Given the description of an element on the screen output the (x, y) to click on. 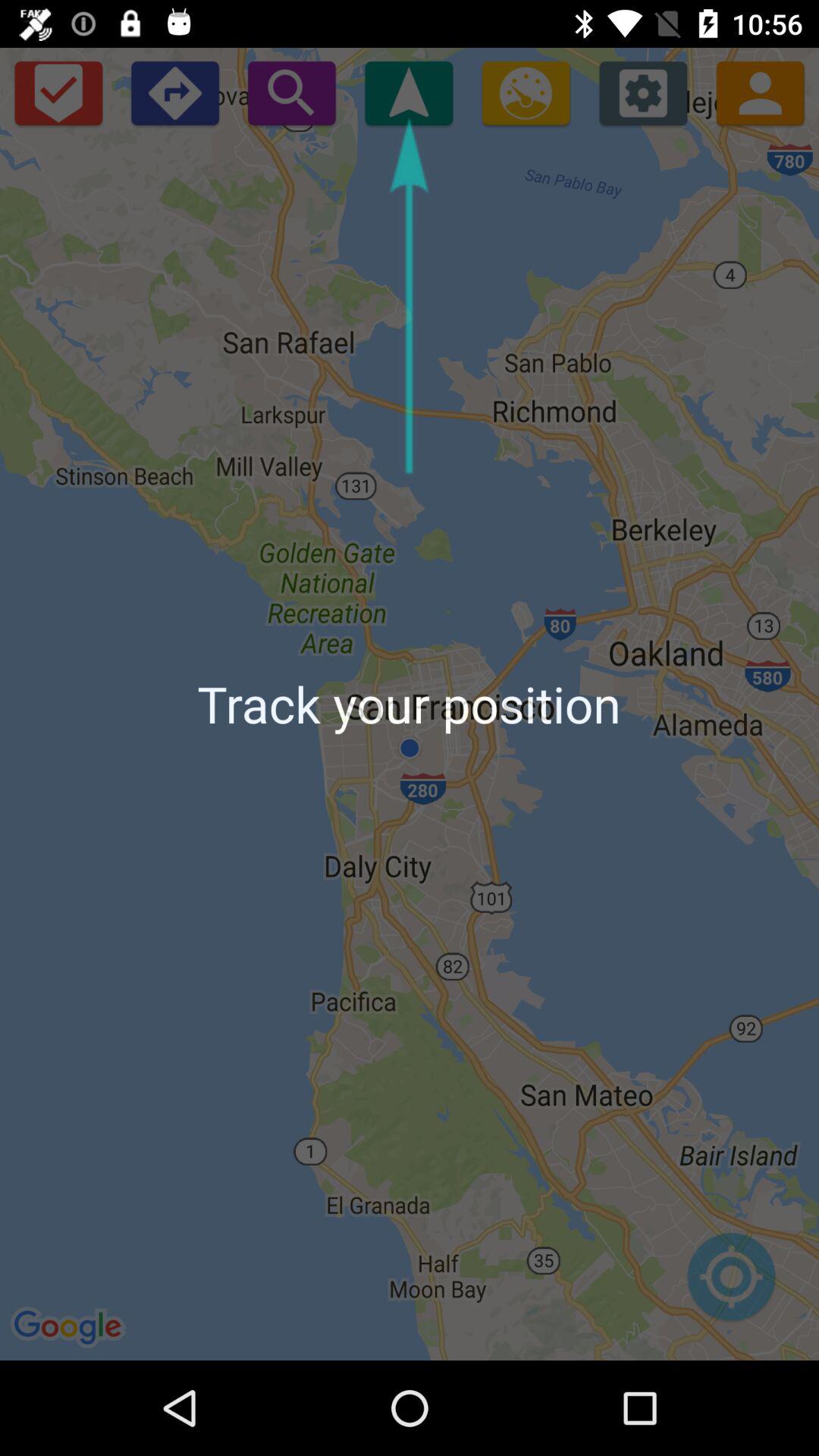
search area (291, 92)
